Given the description of an element on the screen output the (x, y) to click on. 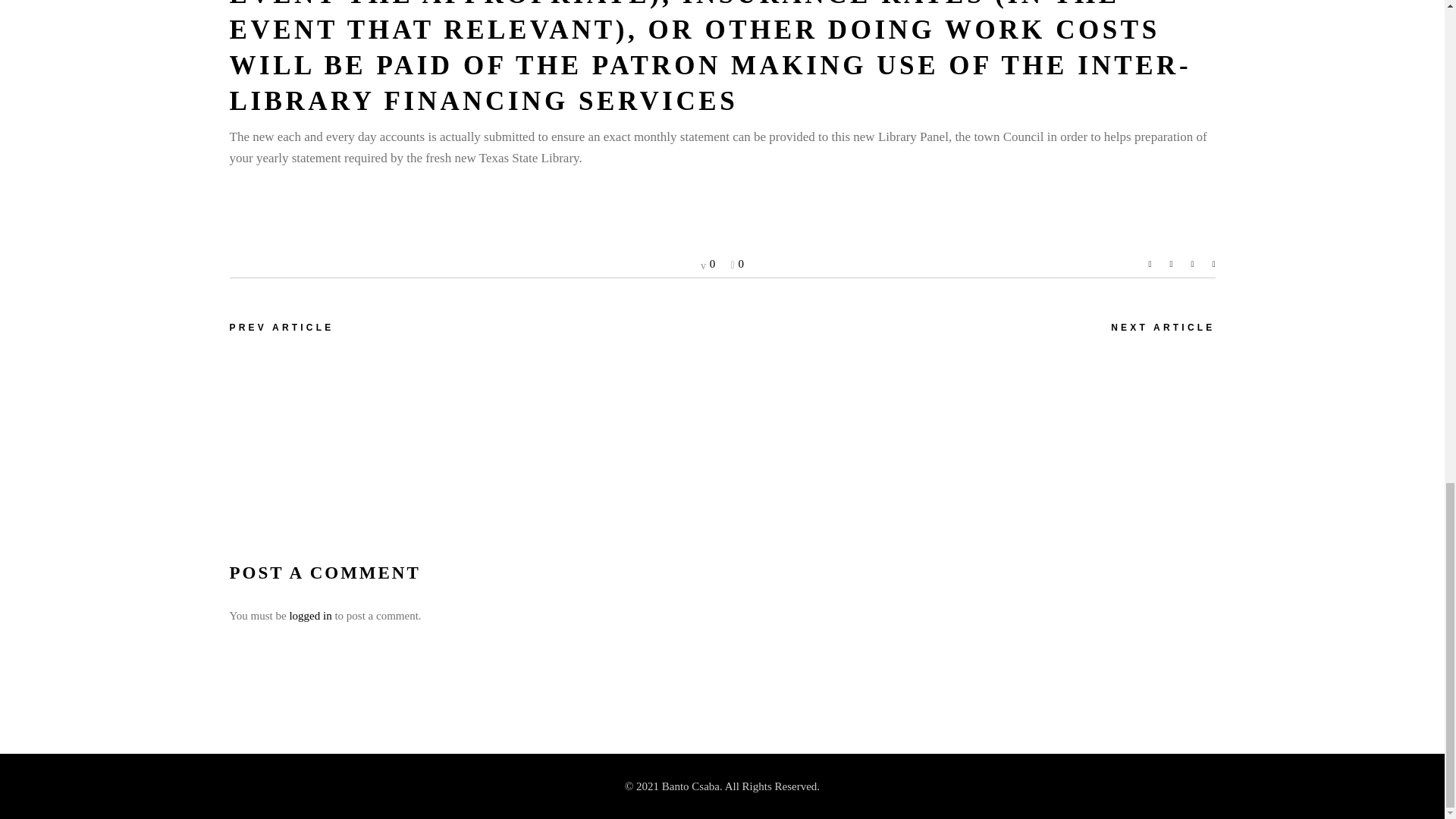
NEXT ARTICLE (1162, 327)
PREV ARTICLE (280, 327)
logged in (309, 615)
0 (737, 263)
Like this (737, 263)
0 (707, 263)
